Given the description of an element on the screen output the (x, y) to click on. 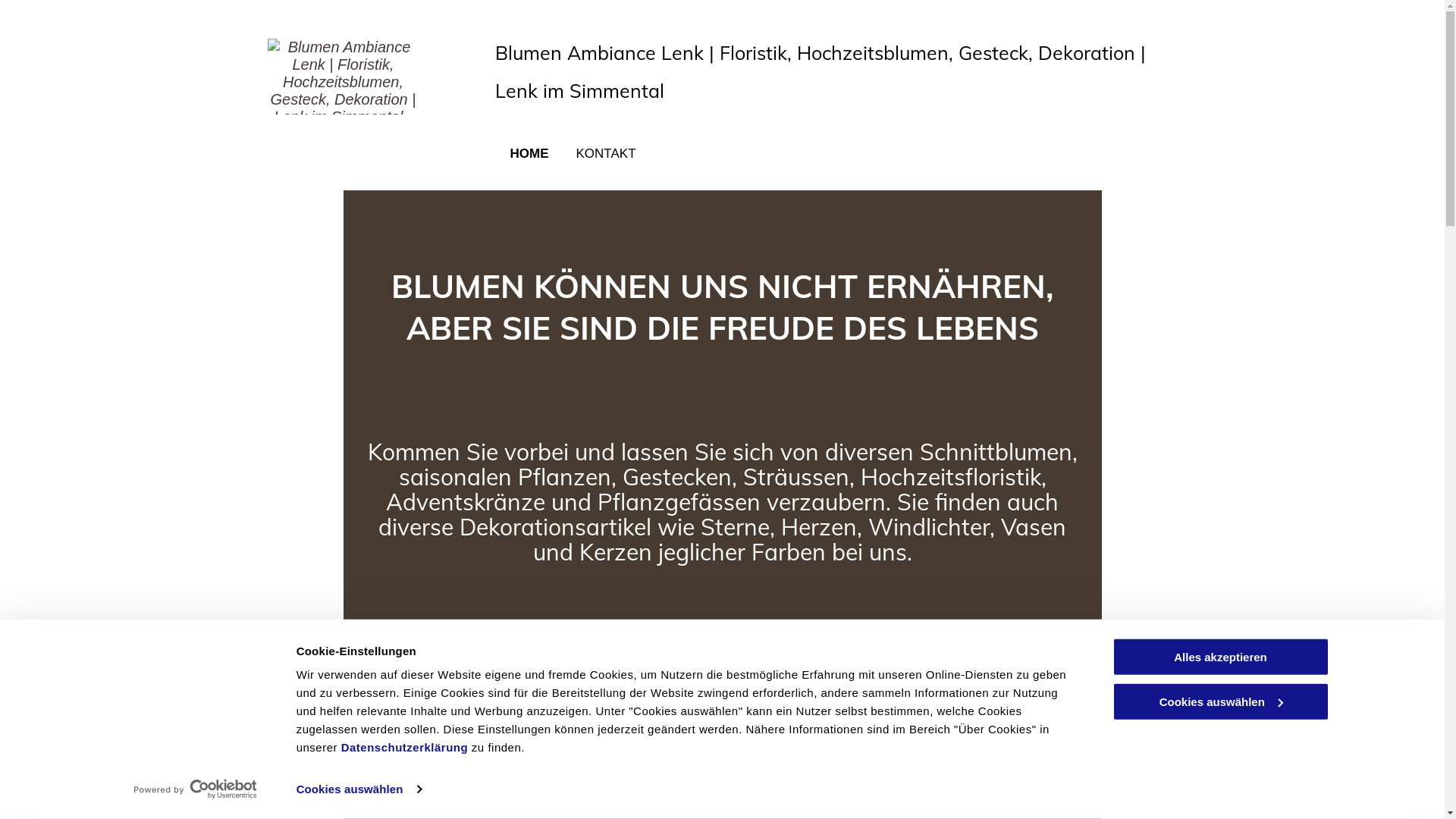
KONTAKT Element type: text (604, 166)
HOME Element type: text (527, 166)
Alles akzeptieren Element type: text (1219, 656)
